Given the description of an element on the screen output the (x, y) to click on. 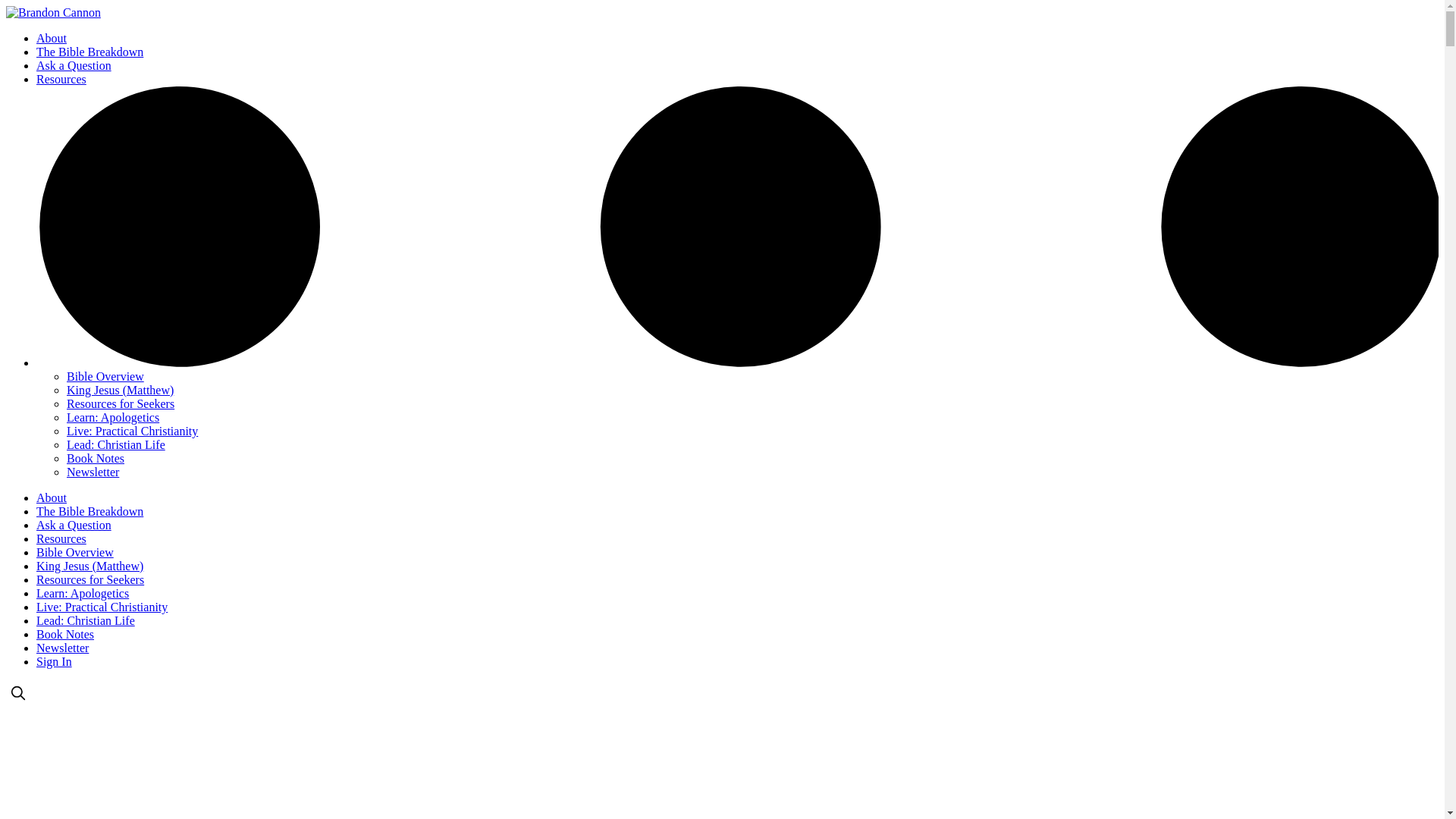
Live: Practical Christianity (101, 606)
Learn: Apologetics (112, 417)
About (51, 38)
Book Notes (94, 458)
Live: Practical Christianity (132, 431)
Resources (60, 538)
Ask a Question (74, 524)
Newsletter (62, 647)
Bible Overview (74, 552)
Sign In (53, 661)
Lead: Christian Life (115, 444)
The Bible Breakdown (89, 511)
Learn: Apologetics (82, 593)
Lead: Christian Life (85, 620)
Resources for Seekers (120, 403)
